Given the description of an element on the screen output the (x, y) to click on. 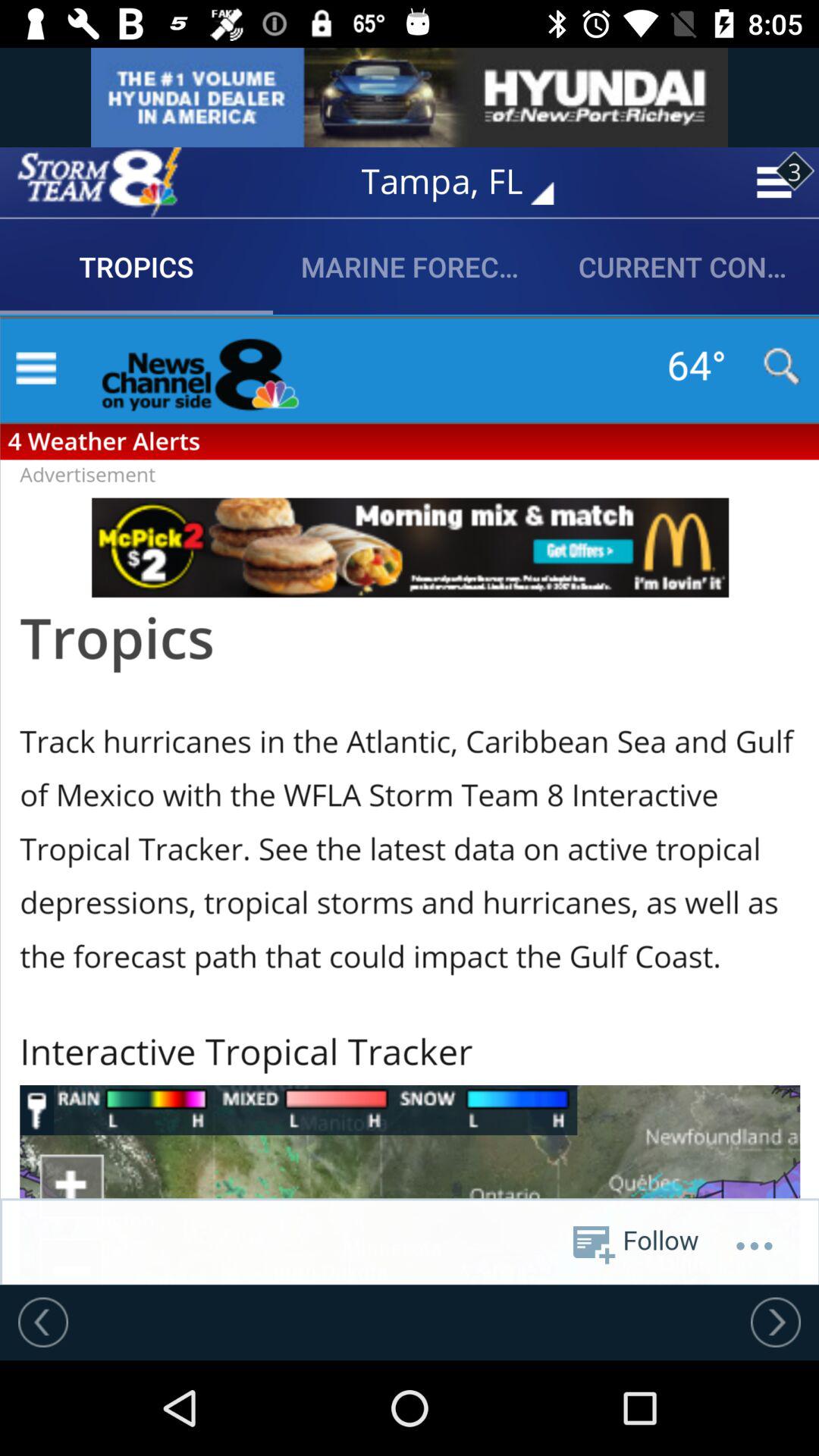
back page button (43, 1322)
